Given the description of an element on the screen output the (x, y) to click on. 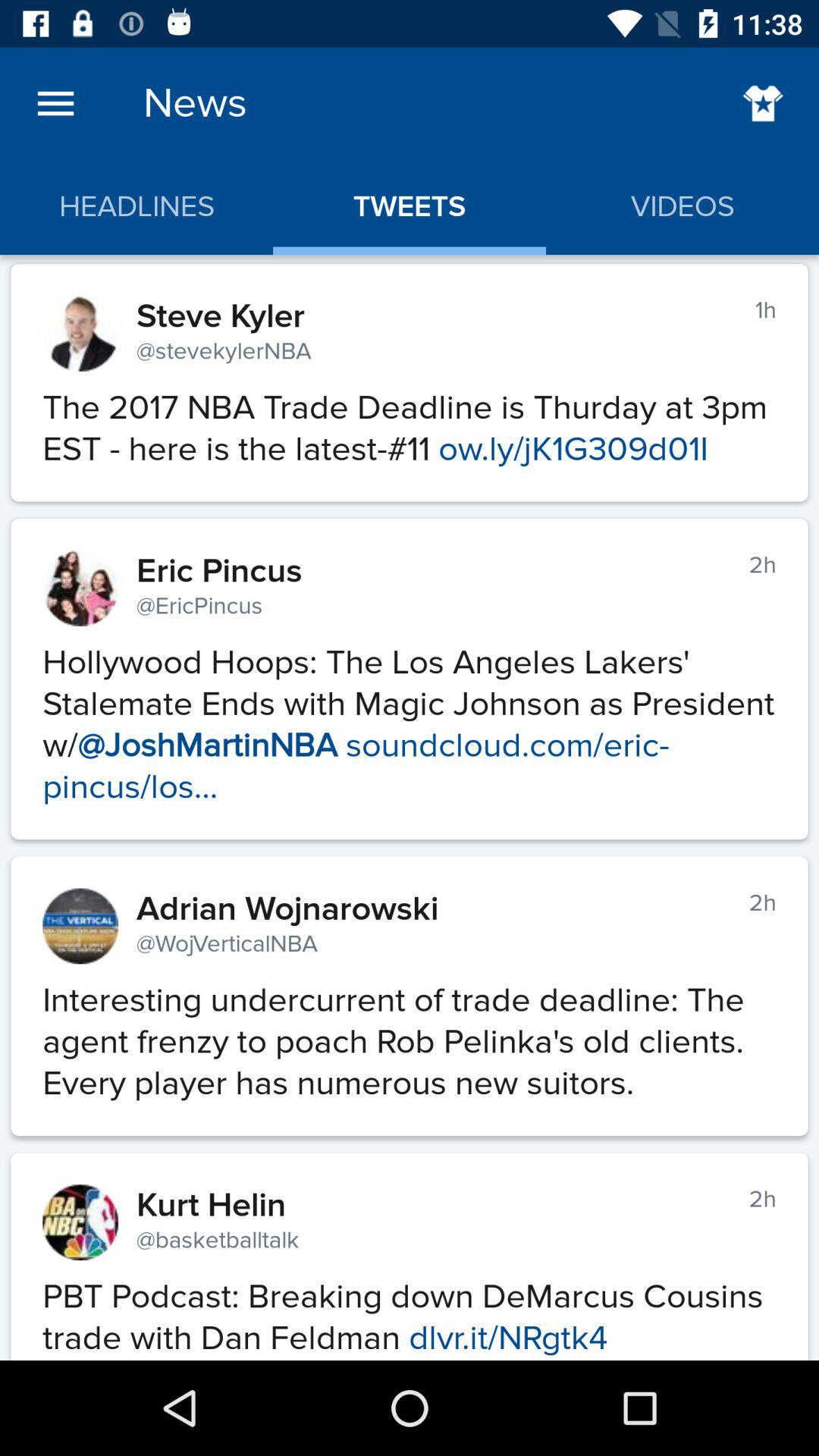
jump to the the 2017 nba (409, 420)
